Given the description of an element on the screen output the (x, y) to click on. 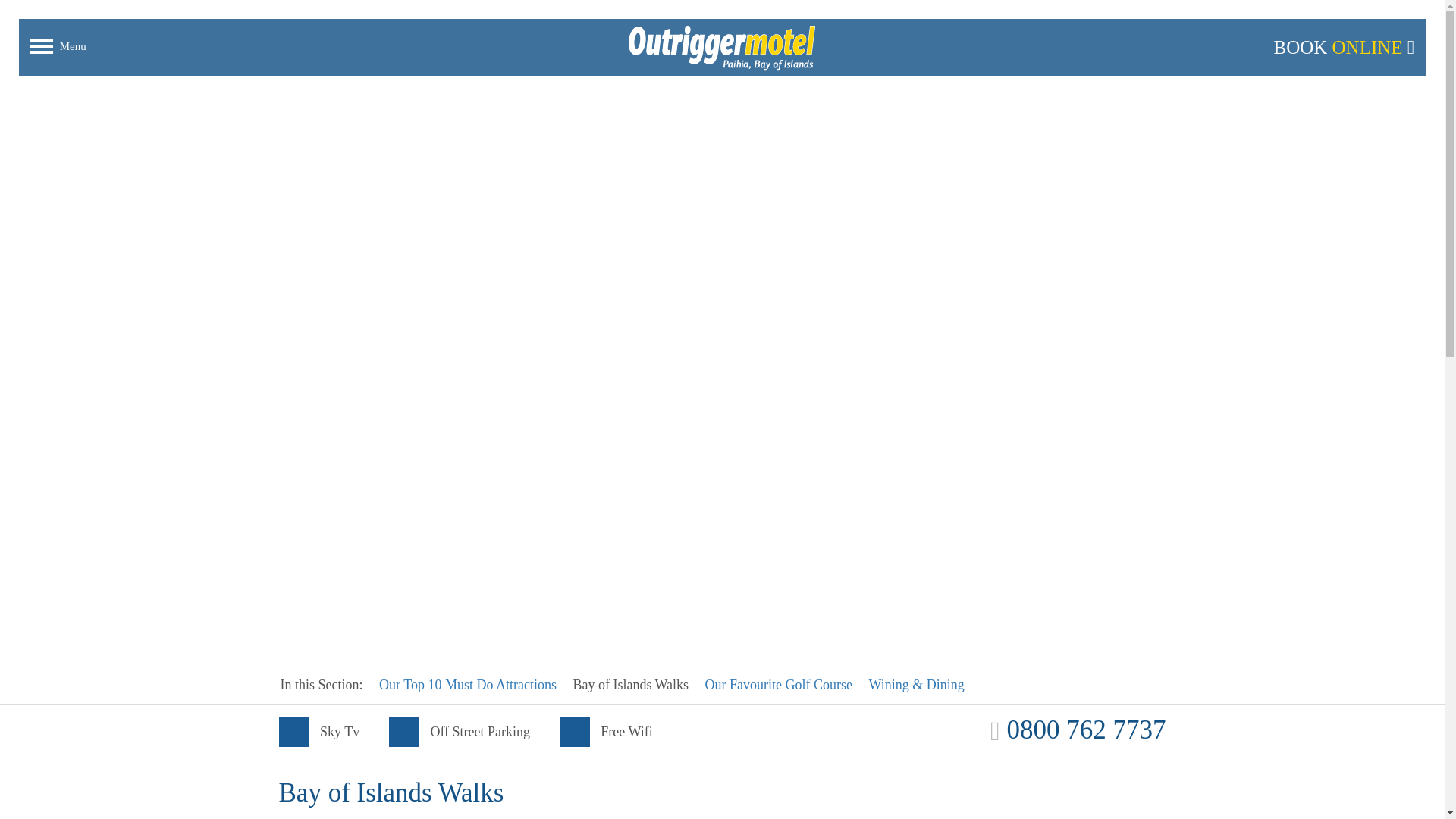
Paihia Restaurants and Bars - Our Recommendations (916, 684)
Outrigger Motel (721, 47)
0800 762 7737 (1078, 730)
Menu (74, 46)
BOOK ONLINE (1342, 47)
Our Top 10 Must Do Attractions in Paihia - Things to do (467, 684)
Our Top 10 Must Do Attractions (467, 684)
Our favourite Bay of Islands Golf Courses (777, 684)
Our Favourite Golf Course (777, 684)
